Given the description of an element on the screen output the (x, y) to click on. 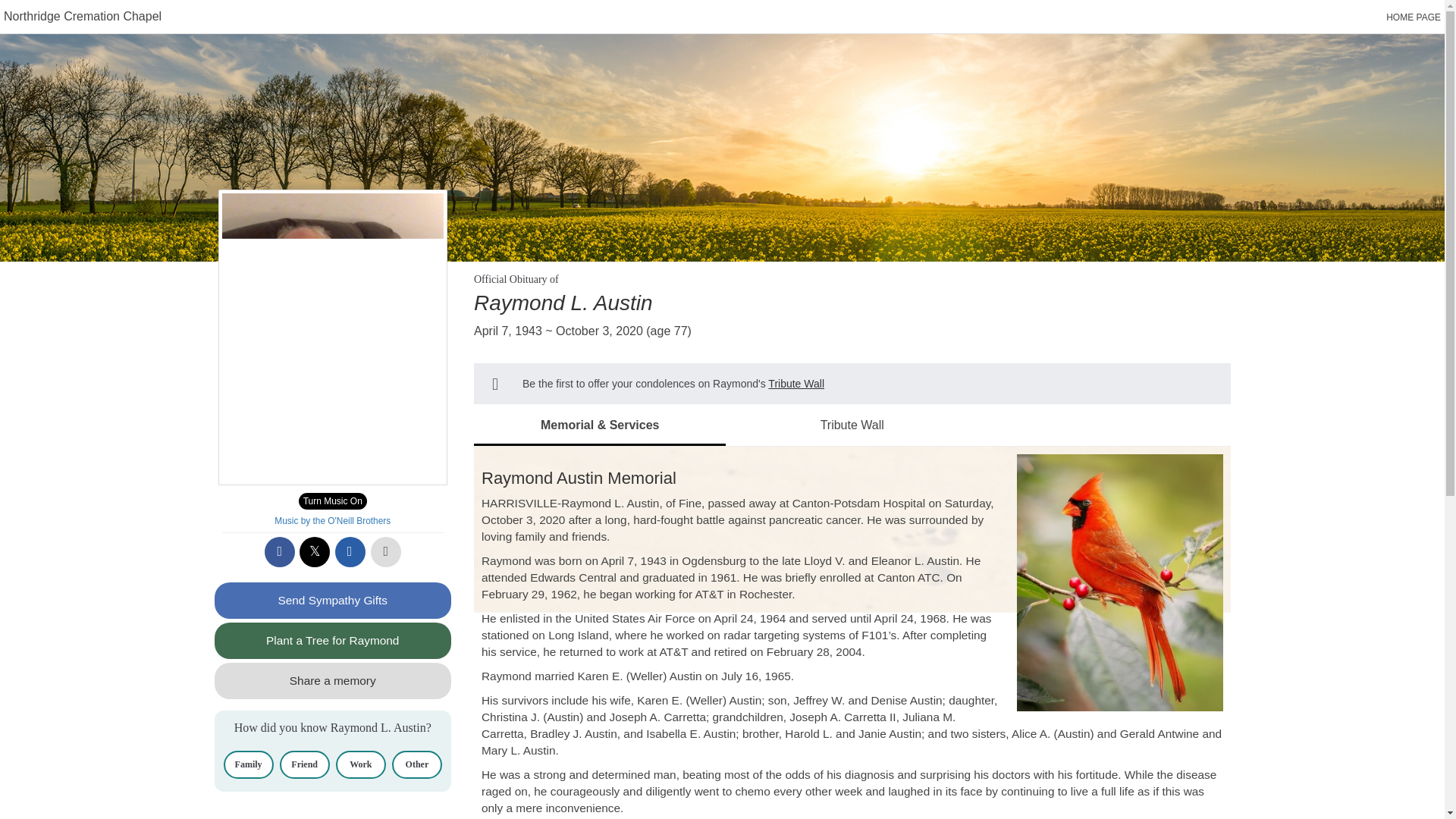
Music by the O'Neill Brothers (332, 520)
Share a memory (332, 680)
Plant a Tree for Raymond (332, 640)
Printable copy (386, 552)
HOME PAGE (1413, 17)
Share on X (314, 552)
Send Sympathy Gifts (332, 600)
Share to Facebook (279, 552)
Share via email (349, 552)
Tribute Wall (796, 383)
Northridge Cremation Chapel (82, 15)
Turn Music On (332, 501)
